Given the description of an element on the screen output the (x, y) to click on. 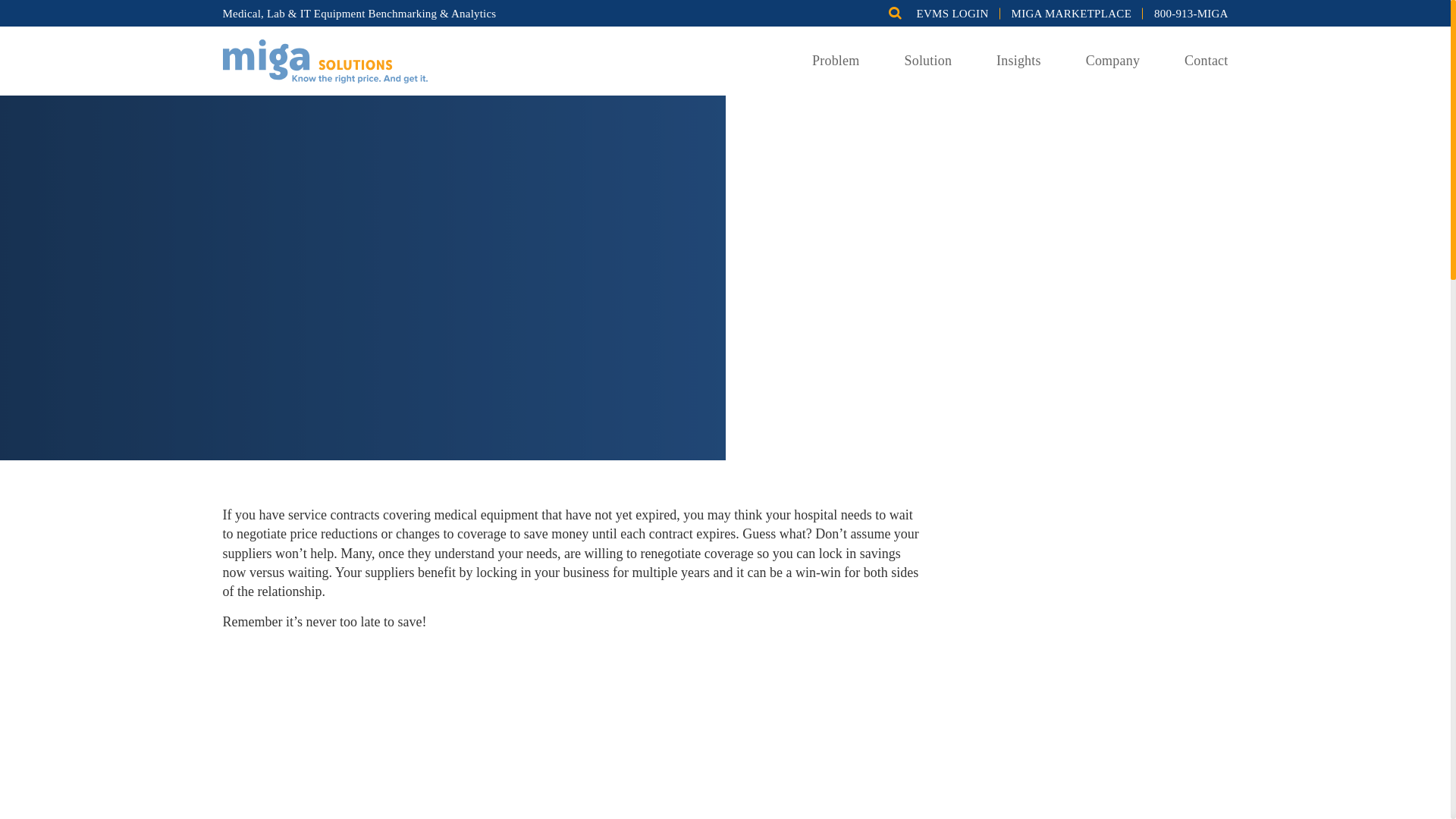
EVMS LOGIN (951, 13)
Miga Solutions (325, 59)
800-913-MIGA (1190, 13)
MIGA MARKETPLACE (1071, 13)
